Given the description of an element on the screen output the (x, y) to click on. 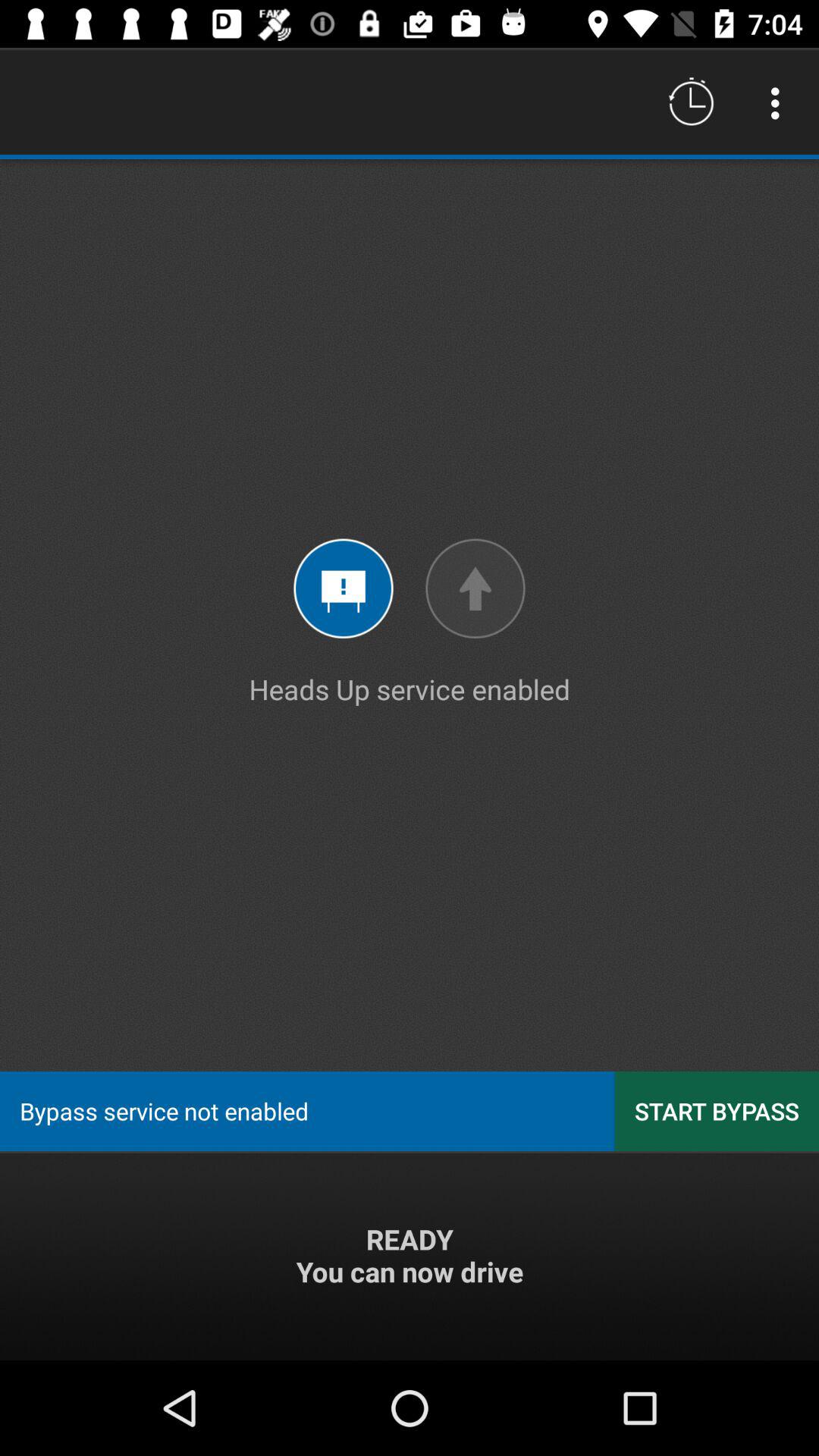
turn on the start bypass item (716, 1111)
